Given the description of an element on the screen output the (x, y) to click on. 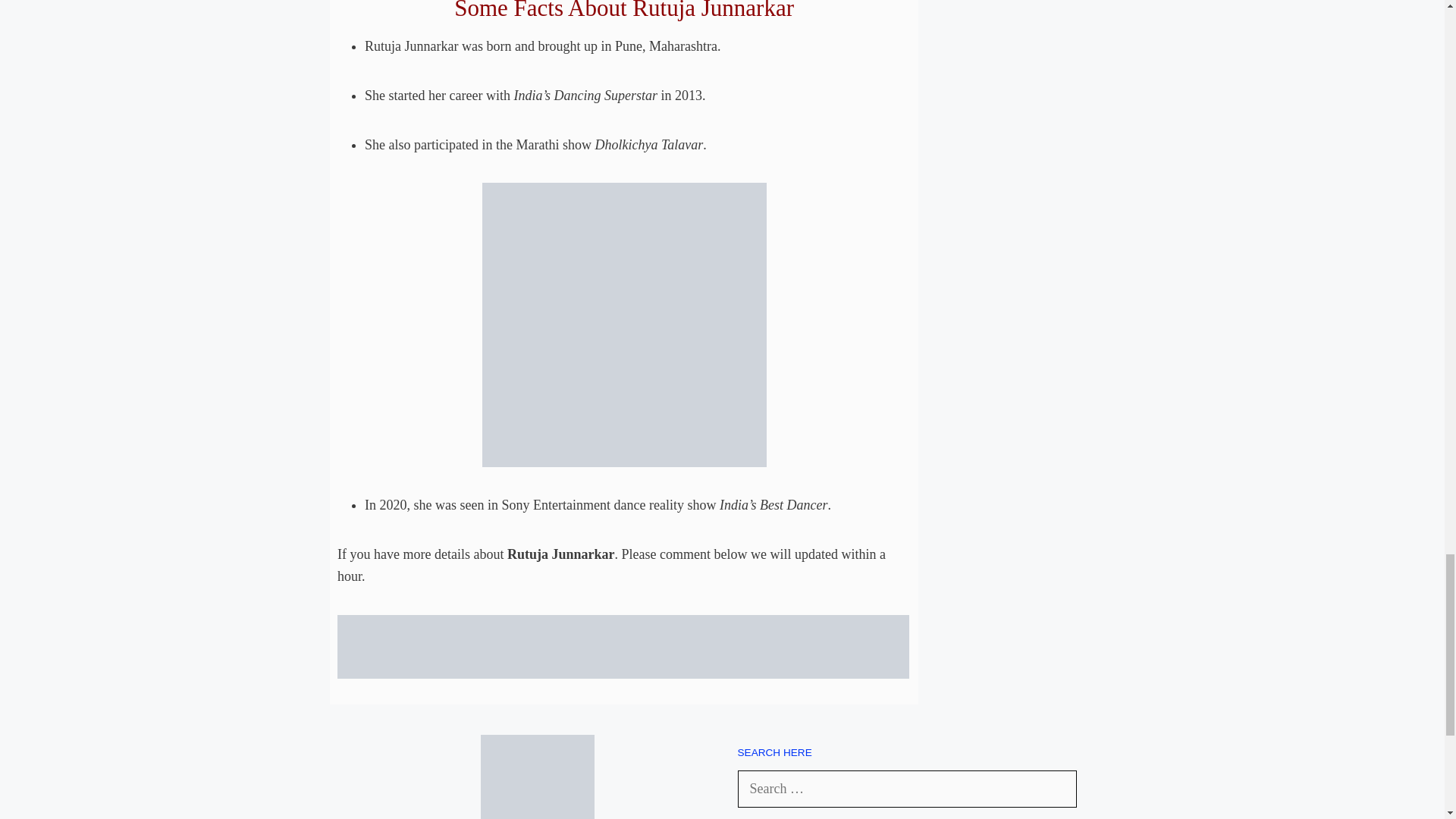
Search for: (906, 788)
